Given the description of an element on the screen output the (x, y) to click on. 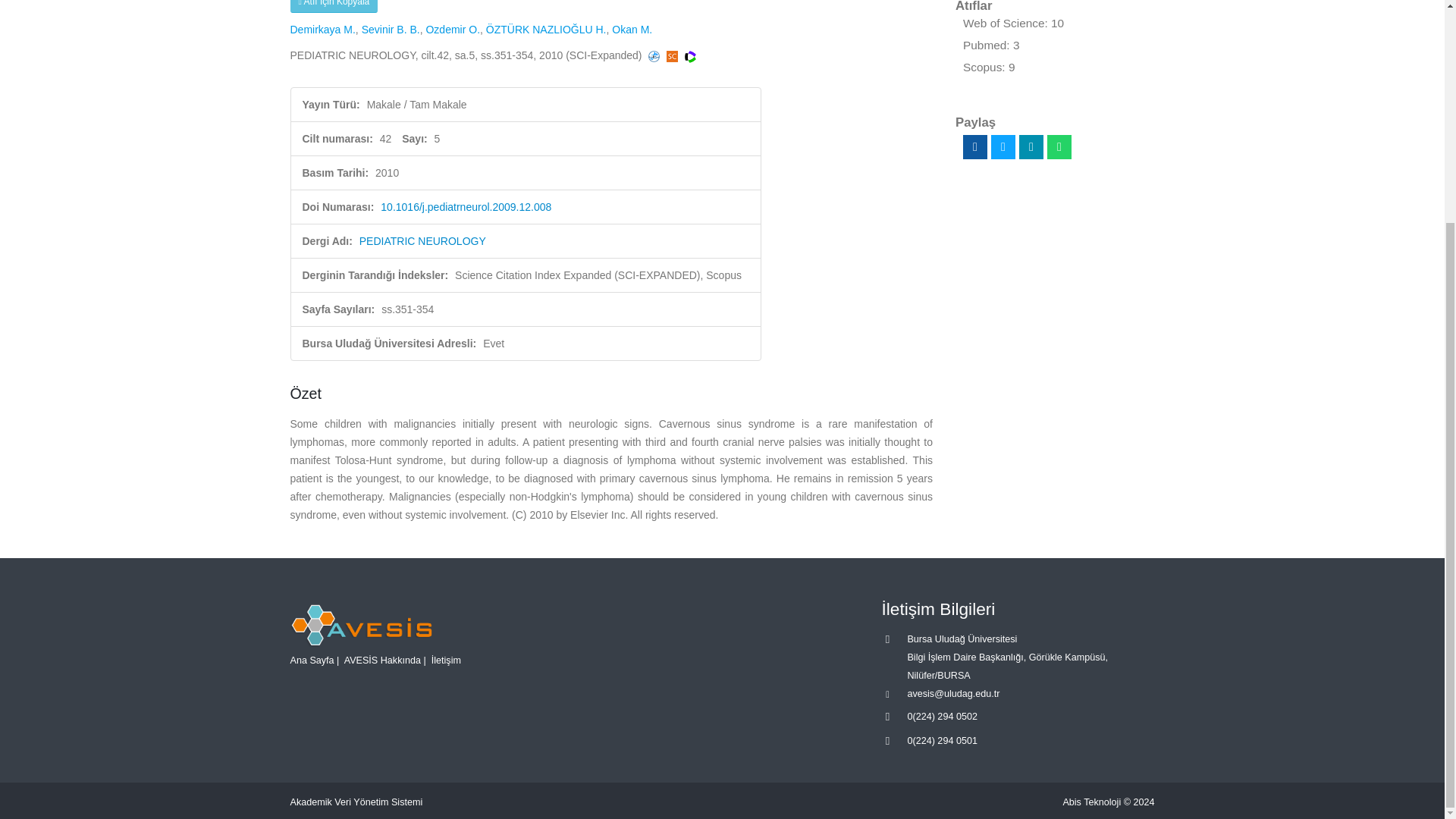
Ana Sayfa (311, 660)
PEDIATRIC NEUROLOGY (422, 241)
Demirkaya M. (322, 29)
Mehmet Okan (631, 29)
Sevinir B. B. (390, 29)
Ozlem Ozdemir (452, 29)
Abis Teknoloji (1091, 801)
Ozdemir O. (452, 29)
Metin Demirkaya (322, 29)
Okan M. (631, 29)
